Given the description of an element on the screen output the (x, y) to click on. 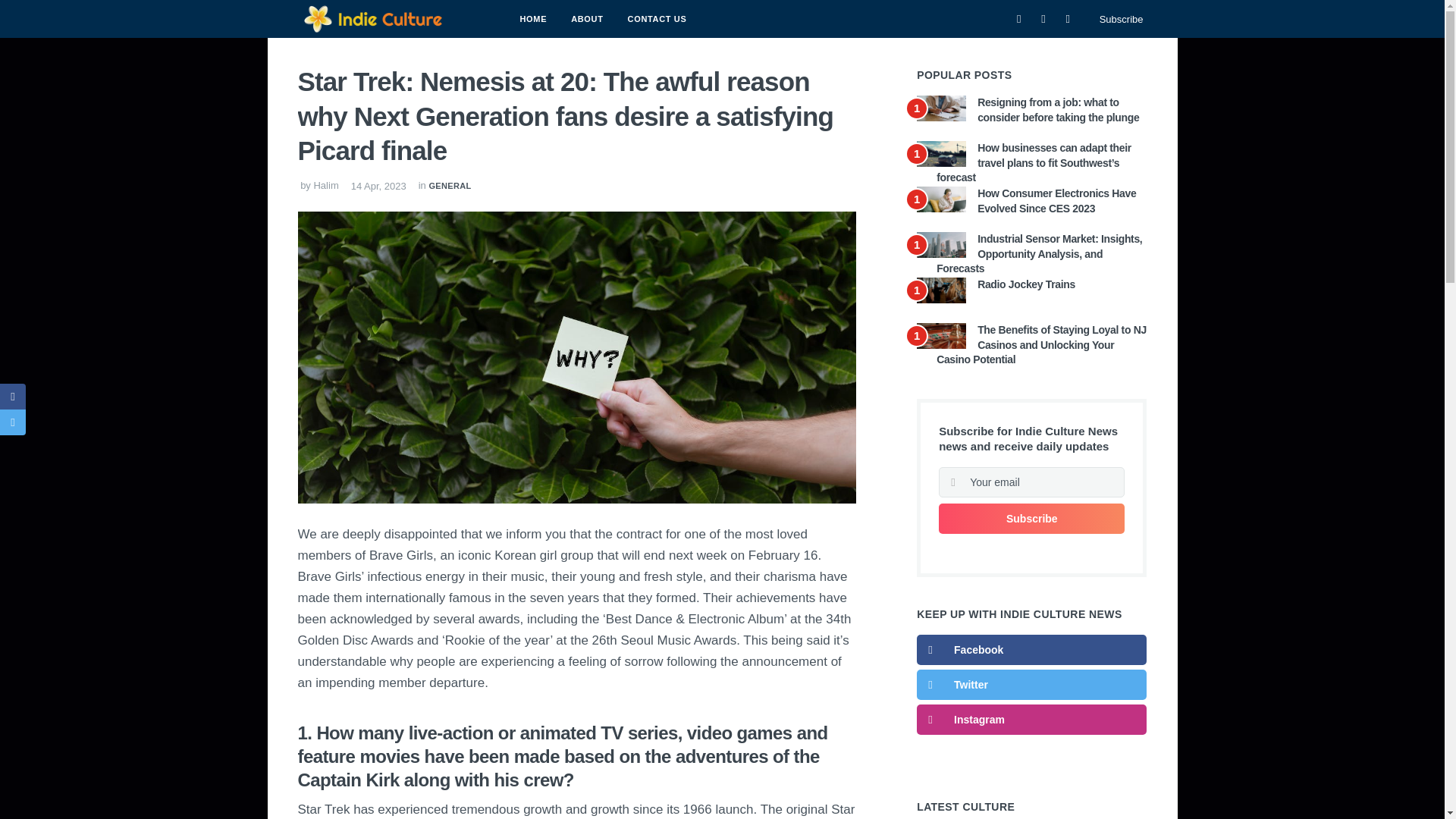
facebook (1032, 649)
by Halim (317, 184)
twitter (1032, 684)
instagram (1032, 719)
CONTACT US (656, 18)
Subscribe (1031, 518)
GENERAL (449, 184)
Subscribe (1120, 19)
